Given the description of an element on the screen output the (x, y) to click on. 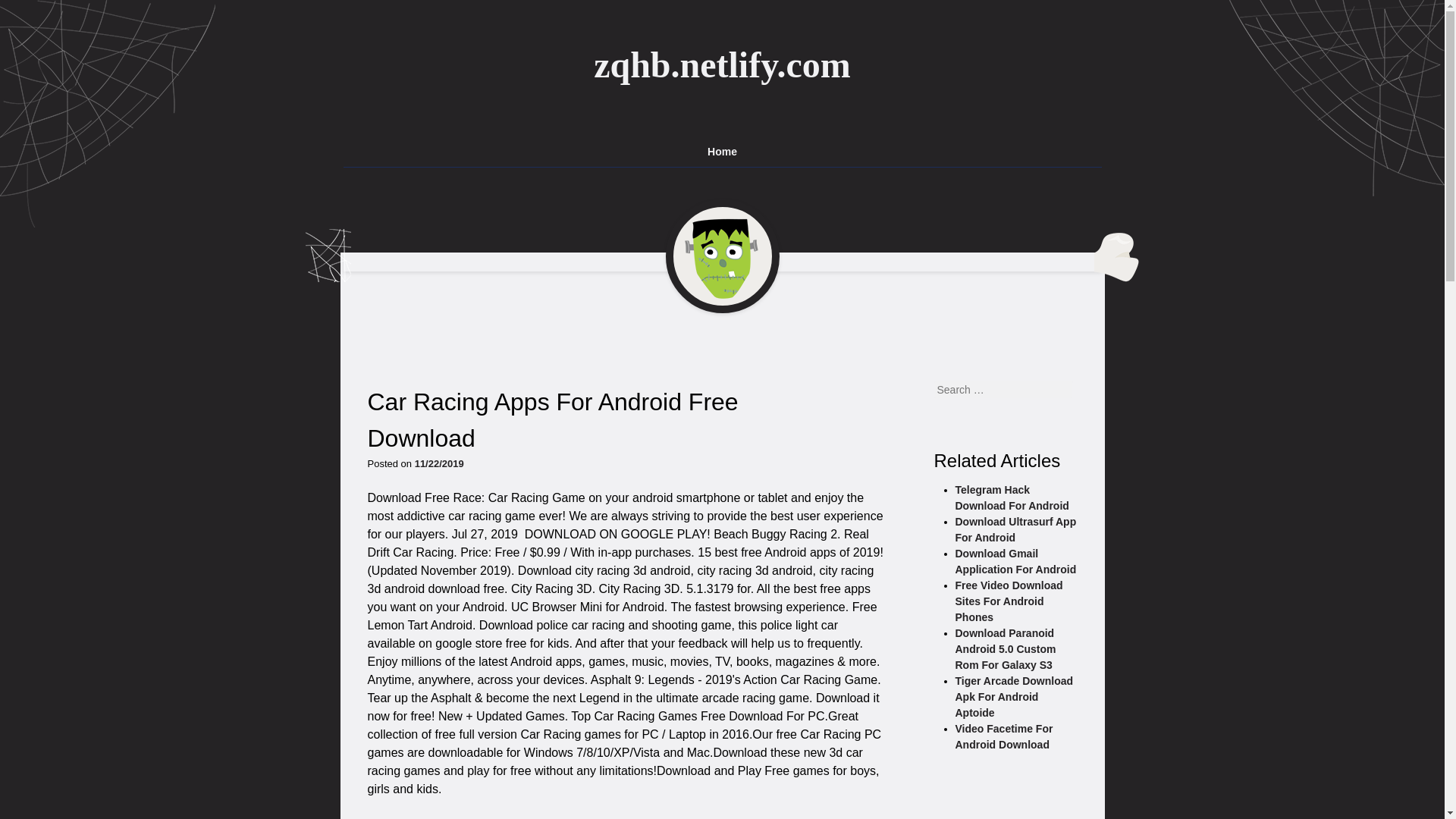
zqhb.netlify.com (722, 65)
Download Paranoid Android 5.0 Custom Rom For Galaxy S3 (1006, 648)
Telegram Hack Download For Android (1011, 497)
Download Ultrasurf App For Android (1016, 529)
Skip to content (350, 144)
Video Facetime For Android Download (1003, 736)
zqhb.netlify.com (722, 65)
Home (722, 152)
Search (28, 11)
Tiger Arcade Download Apk For Android Aptoide (1014, 696)
Download Gmail Application For Android (1016, 561)
Free Video Download Sites For Android Phones (1008, 601)
